Given the description of an element on the screen output the (x, y) to click on. 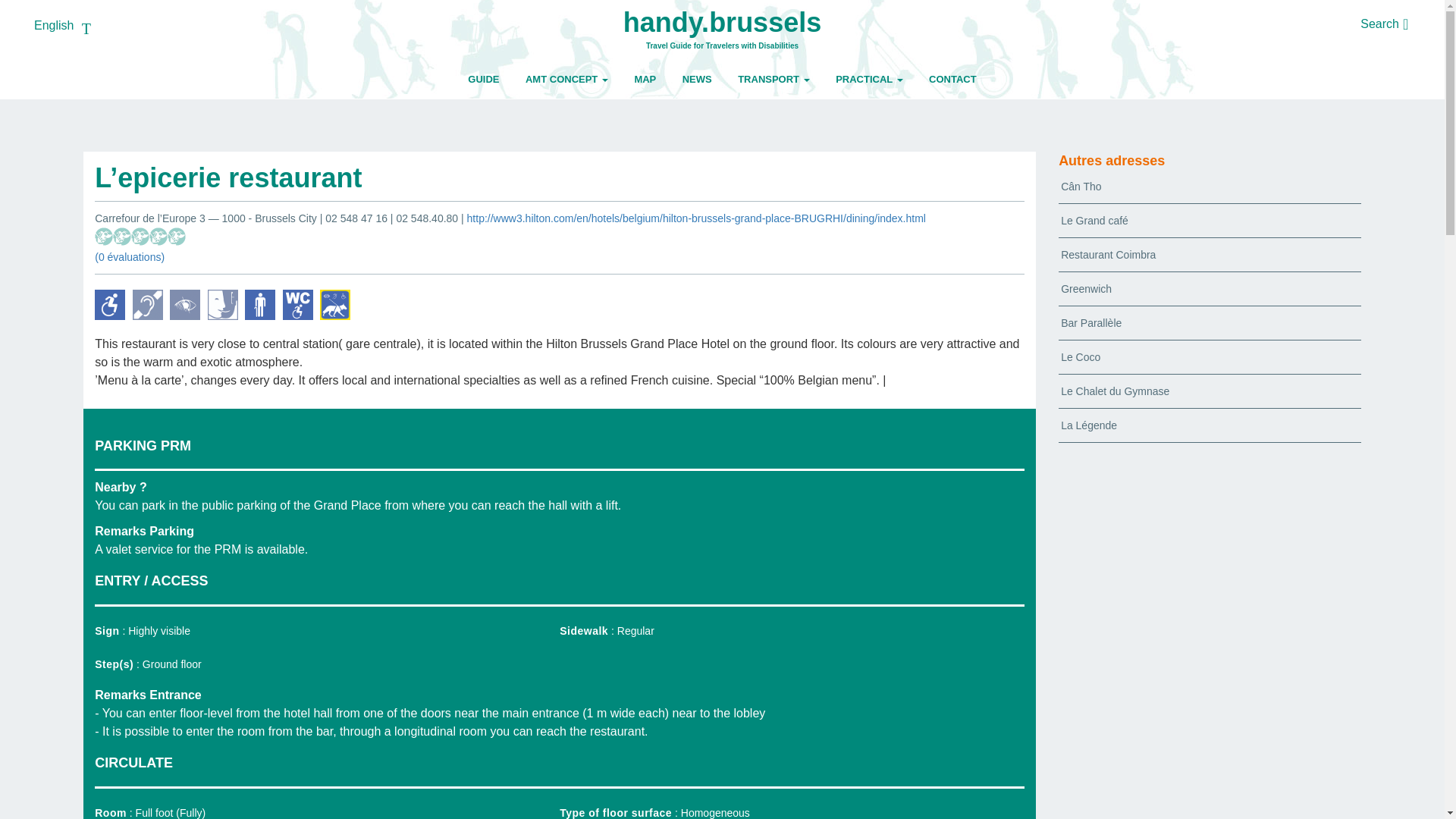
Search (1379, 23)
CONTACT (952, 79)
GUIDE (484, 79)
Practical (869, 79)
PRACTICAL (869, 79)
Guide (484, 79)
TRANSPORT (773, 79)
handy.brussels (721, 24)
NEWS (697, 79)
Transport (773, 79)
